Given the description of an element on the screen output the (x, y) to click on. 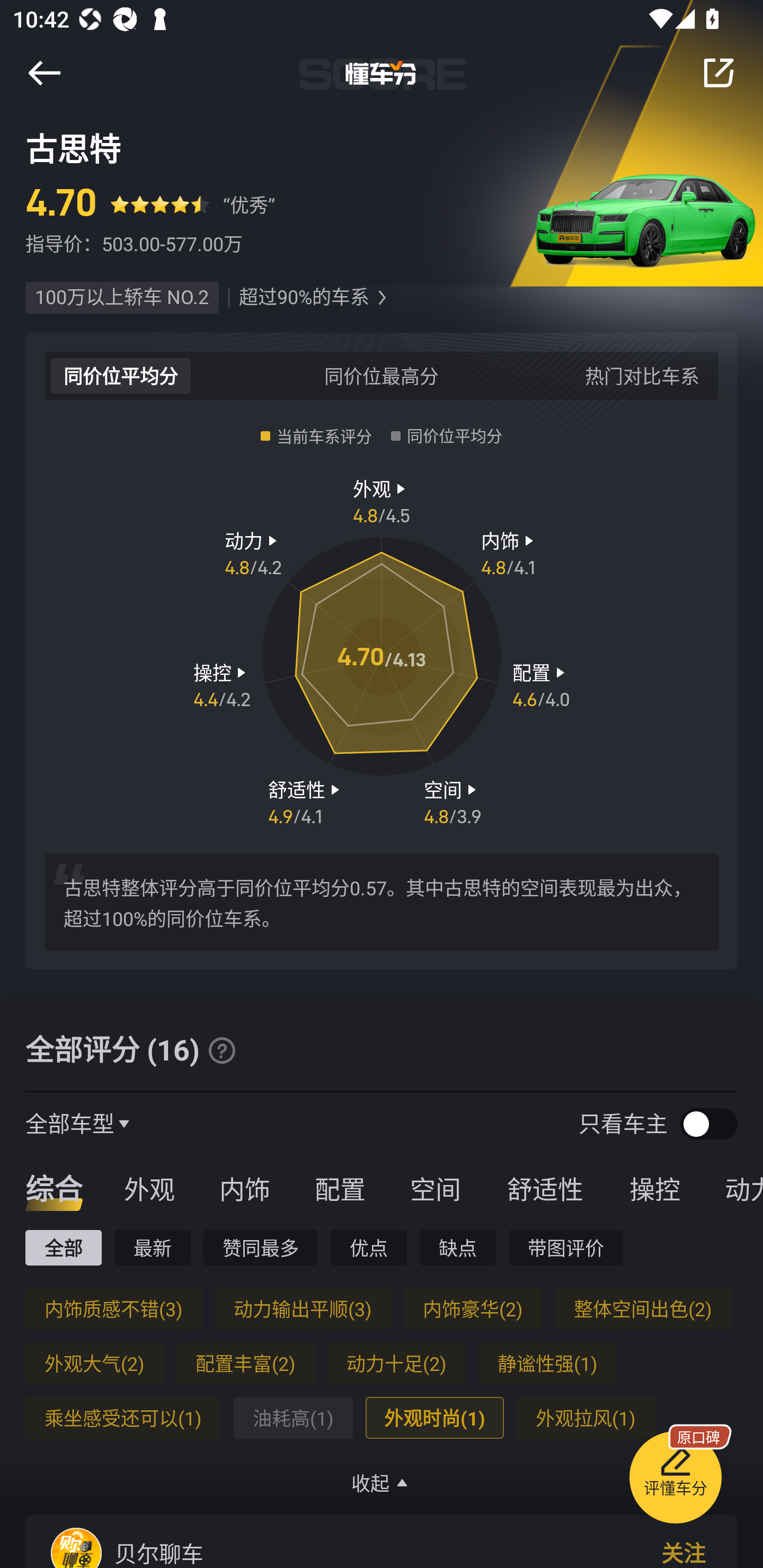
 (44, 72)
 (718, 72)
超过90%的车系 (303, 297)
 (381, 297)
同价位平均分 (120, 375)
同价位最高分 (381, 375)
热门对比车系 (641, 375)
外观  4.8 / 4.5 (381, 500)
动力  4.8 / 4.2 (252, 552)
内饰  4.8 / 4.1 (509, 552)
操控  4.4 / 4.2 (221, 685)
配置  4.6 / 4.0 (540, 685)
舒适性  4.9 / 4.1 (305, 801)
空间  4.8 / 3.9 (452, 801)
 (222, 1050)
全部车型 (69, 1123)
外观 (148, 1188)
内饰 (244, 1188)
配置 (339, 1188)
空间 (434, 1188)
舒适性 (544, 1188)
操控 (654, 1188)
全部 (63, 1247)
最新 (152, 1247)
赞同最多 (260, 1247)
优点 (368, 1247)
缺点 (457, 1247)
带图评价 (565, 1247)
内饰质感不错(3) (113, 1308)
动力输出平顺(3) (302, 1308)
内饰豪华(2) (472, 1308)
整体空间出色(2) (642, 1308)
外观大气(2) (94, 1363)
配置丰富(2) (245, 1363)
动力十足(2) (396, 1363)
静谧性强(1) (547, 1363)
乘坐感受还可以(1) (123, 1418)
油耗高(1) (292, 1418)
外观时尚(1) (434, 1418)
外观拉风(1) (585, 1418)
 评懂车分 原口碑 (675, 1480)
收起  (381, 1482)
关注 (683, 1550)
贝尔聊车 (158, 1553)
